Given the description of an element on the screen output the (x, y) to click on. 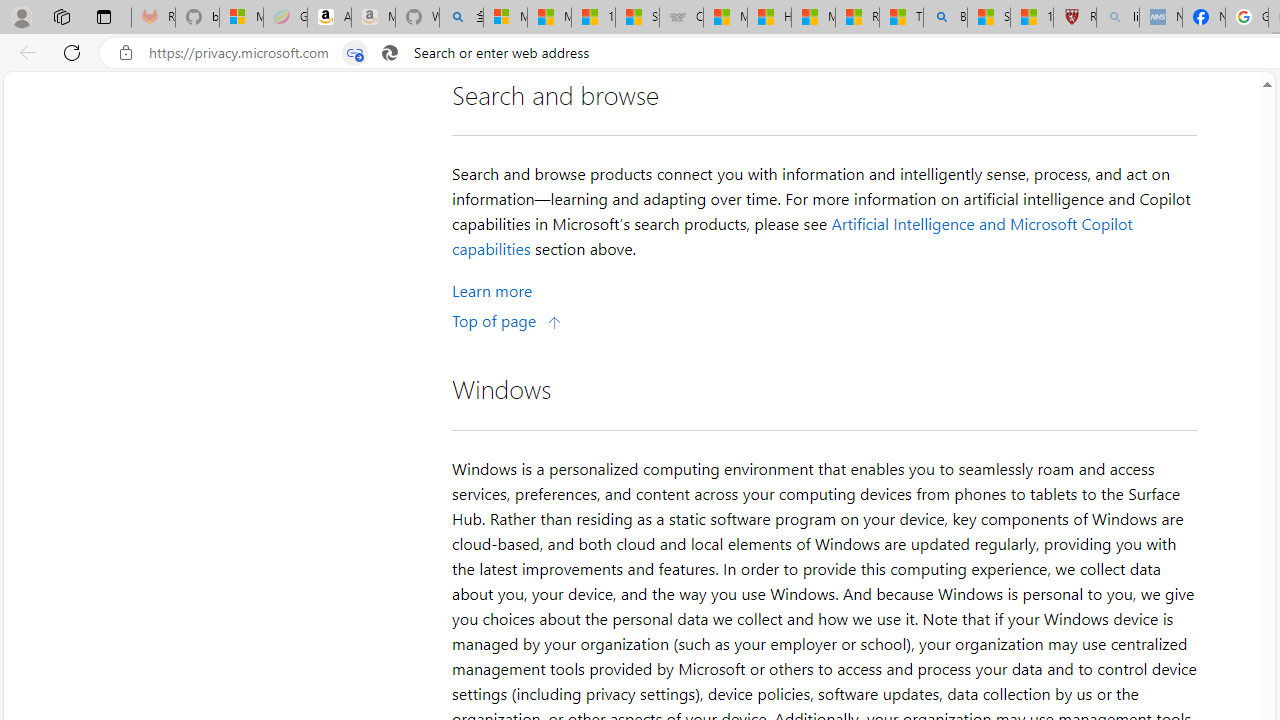
Recipes - MSN (857, 17)
